Given the description of an element on the screen output the (x, y) to click on. 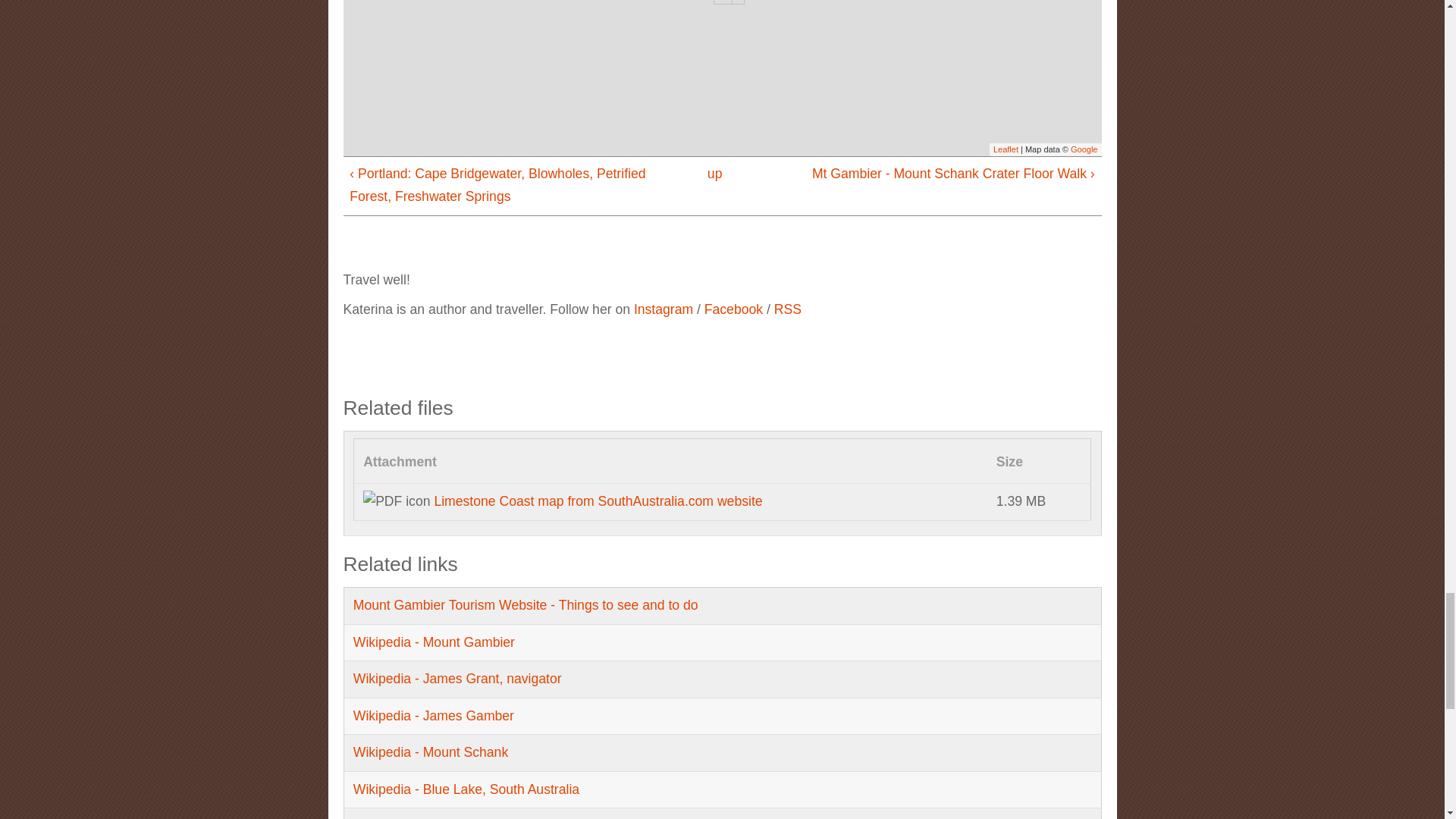
up (714, 173)
Google (1083, 148)
Leaflet (1004, 148)
